Given the description of an element on the screen output the (x, y) to click on. 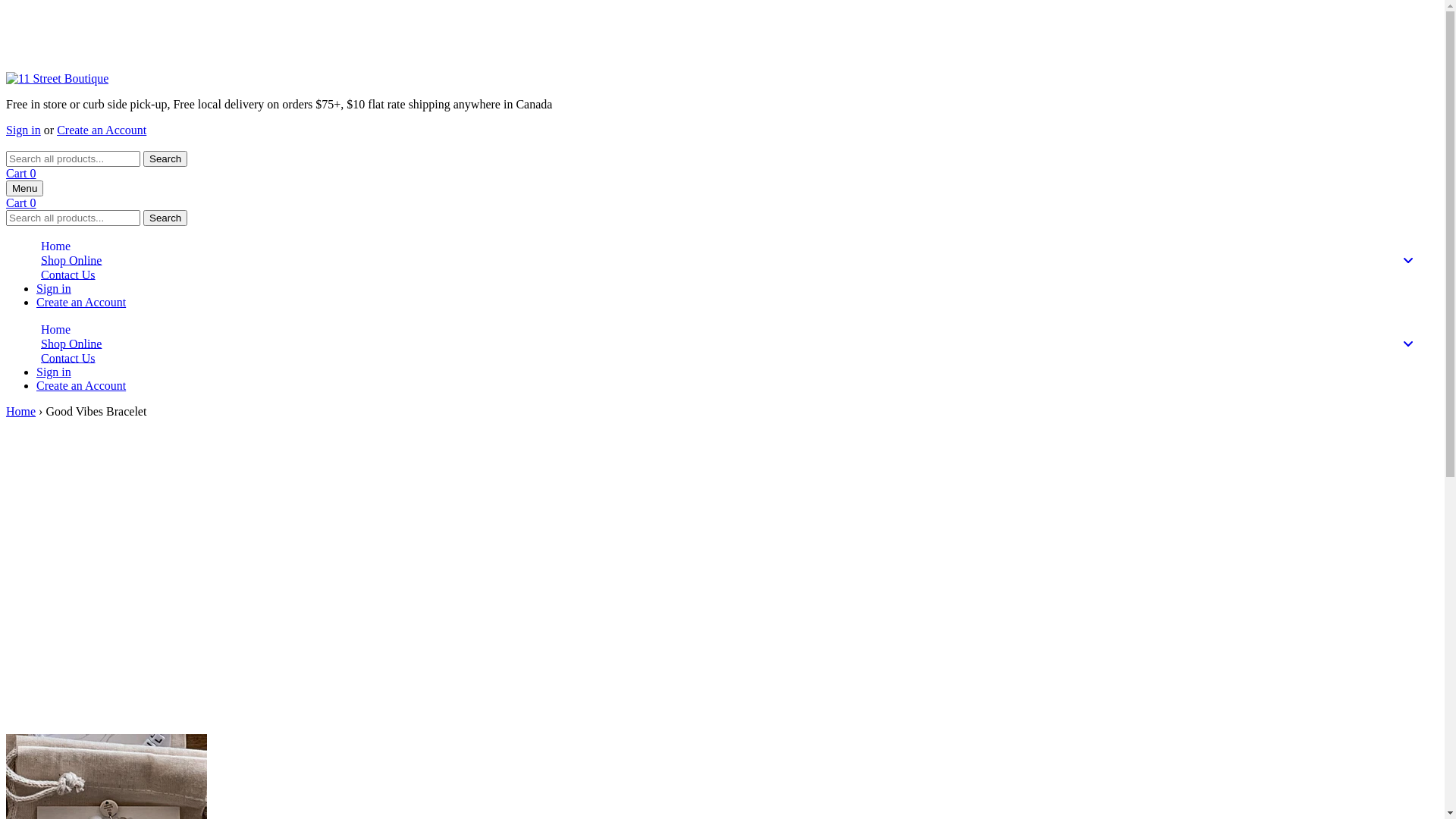
Contact Us Element type: text (737, 274)
Search Element type: text (165, 158)
Create an Account Element type: text (80, 301)
Cart 0 Element type: text (21, 202)
Search Element type: text (165, 217)
Toggle menu Element type: hover (1412, 260)
Contact Us Element type: text (737, 358)
Shop Online Element type: text (737, 343)
Home Element type: text (20, 410)
Cart 0 Element type: text (21, 172)
Sign in Element type: text (53, 288)
Create an Account Element type: text (80, 385)
Sign in Element type: text (23, 129)
Home Element type: text (737, 245)
Menu Element type: text (24, 188)
Create an Account Element type: text (101, 129)
Home Element type: text (737, 328)
Sign in Element type: text (53, 371)
Shop Online Element type: text (737, 260)
Toggle menu Element type: hover (1412, 343)
